Given the description of an element on the screen output the (x, y) to click on. 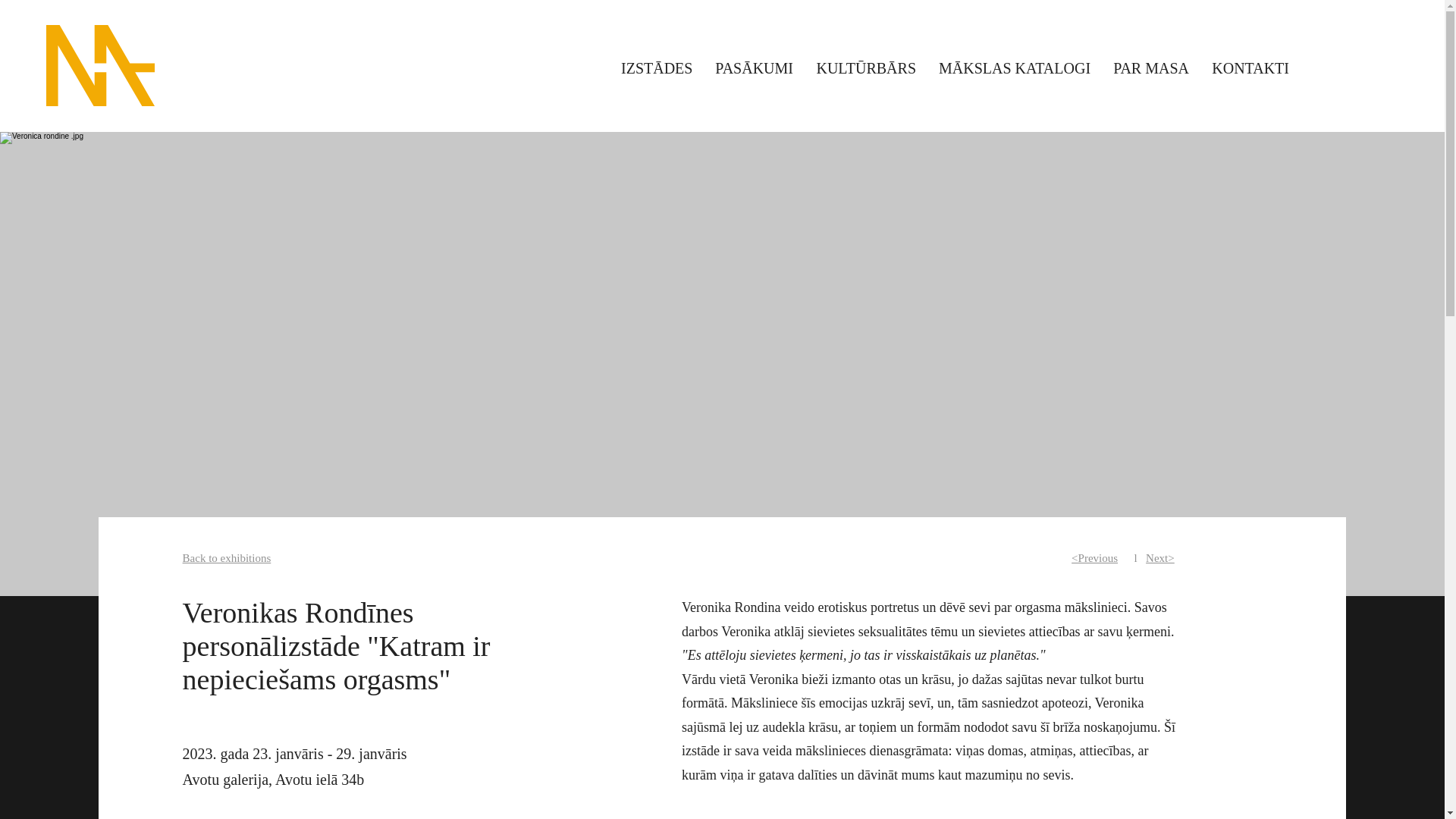
PAR MASA (1150, 66)
KONTAKTI (1249, 99)
KONTAKTI (1249, 66)
Back to exhibitions (226, 558)
PAR MASA (1150, 99)
